Given the description of an element on the screen output the (x, y) to click on. 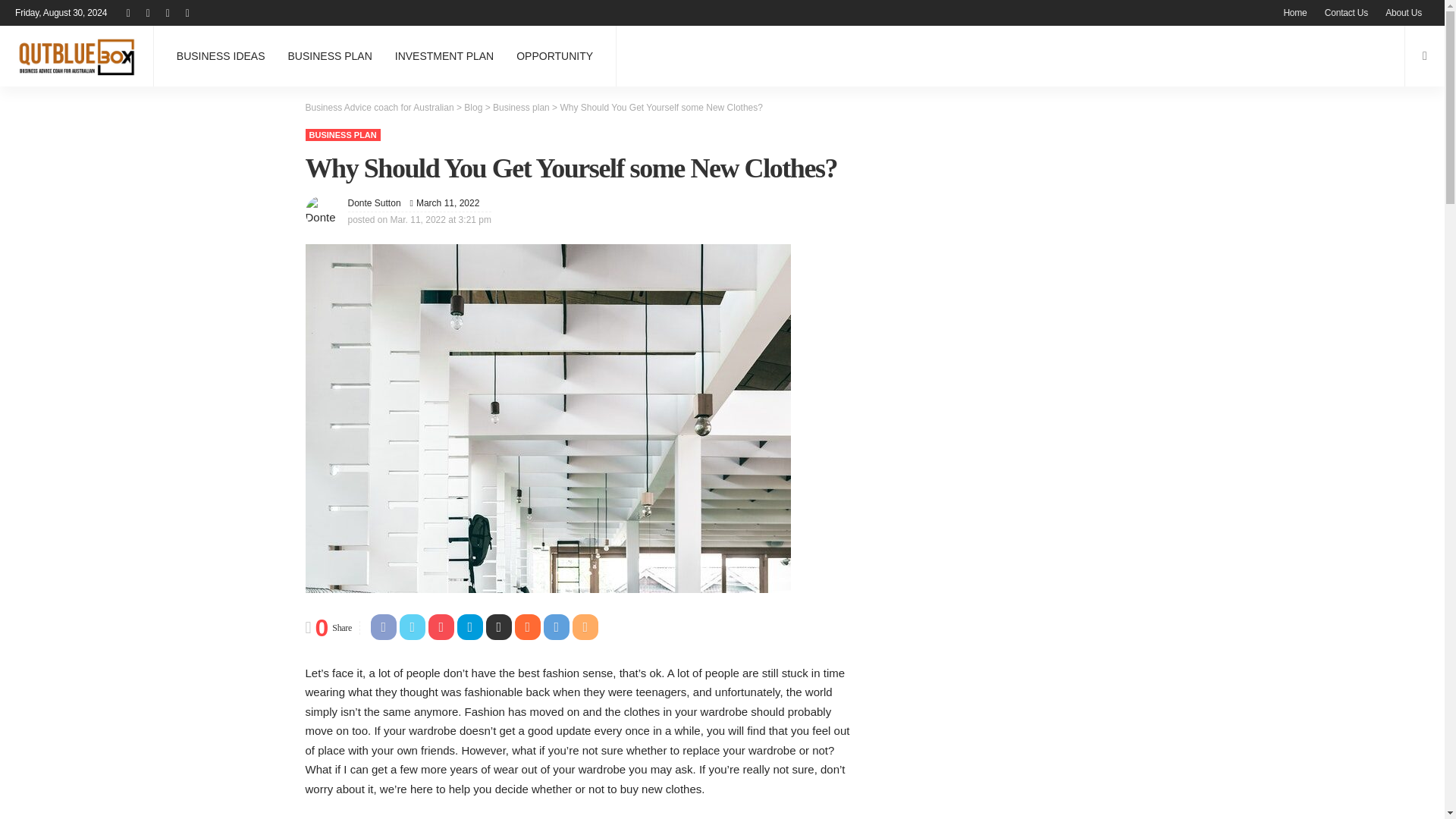
Business Advice coach for Australian (76, 55)
Business Advice coach for Australian (378, 107)
Go to Business Advice coach for Australian. (378, 107)
Donte Sutton (373, 202)
BUSINESS PLAN (330, 55)
Contact Us (1346, 12)
About Us (1403, 12)
Go to Blog. (472, 107)
OPPORTUNITY (554, 55)
Business plan (521, 107)
